Given the description of an element on the screen output the (x, y) to click on. 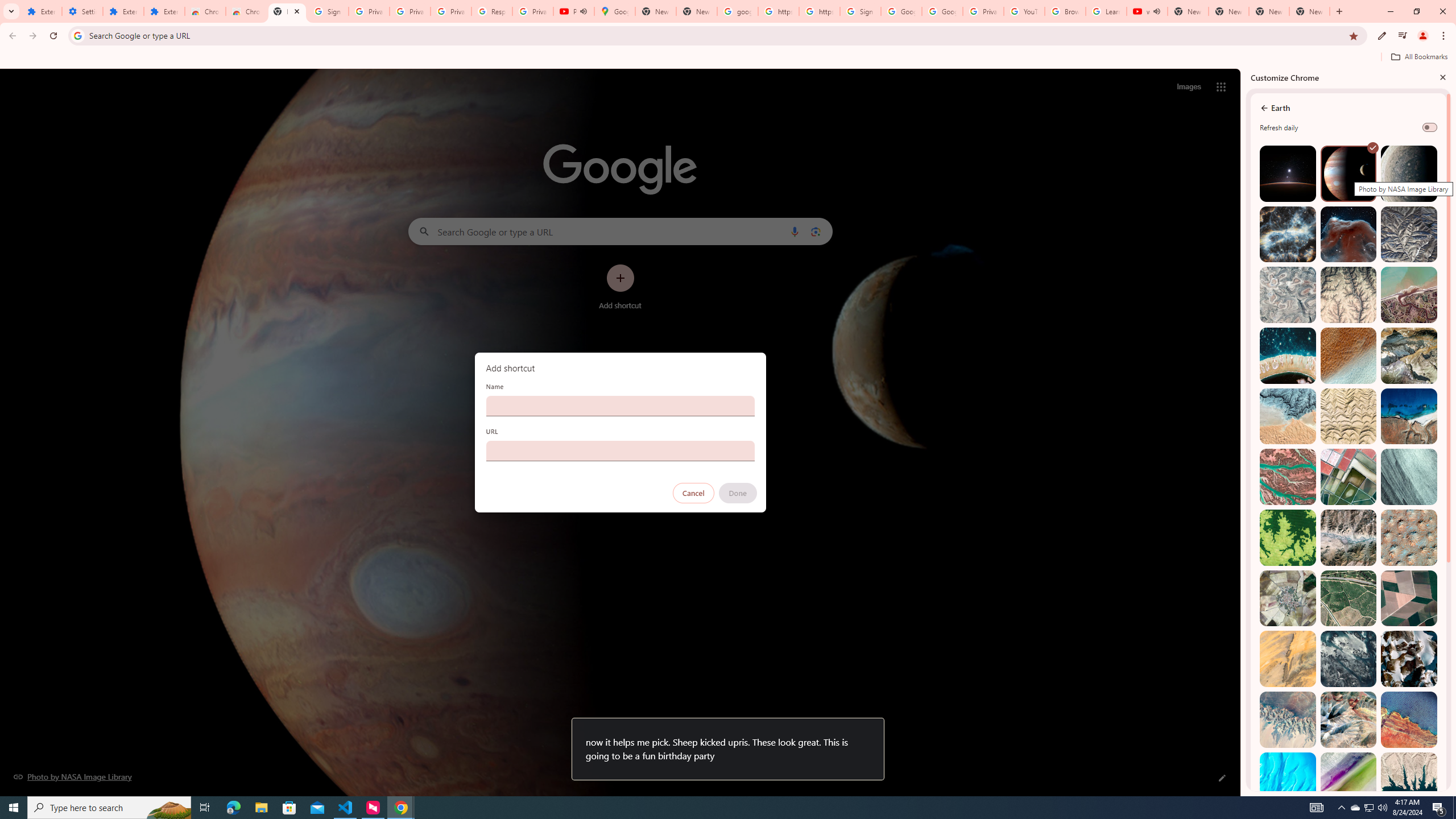
https://scholar.google.com/ (777, 11)
Sign in - Google Accounts (860, 11)
New Tab (287, 11)
https://scholar.google.com/ (818, 11)
Antarctica (1408, 658)
Done (737, 493)
Ngari, China (1348, 719)
Qesm Al Wahat Ad Dakhlah, Egypt (1287, 719)
Browse Chrome as a guest - Computer - Google Chrome Help (1064, 11)
Nanggroe Aceh Darussalam, Indonesia (1408, 294)
Extensions (163, 11)
